Given the description of an element on the screen output the (x, y) to click on. 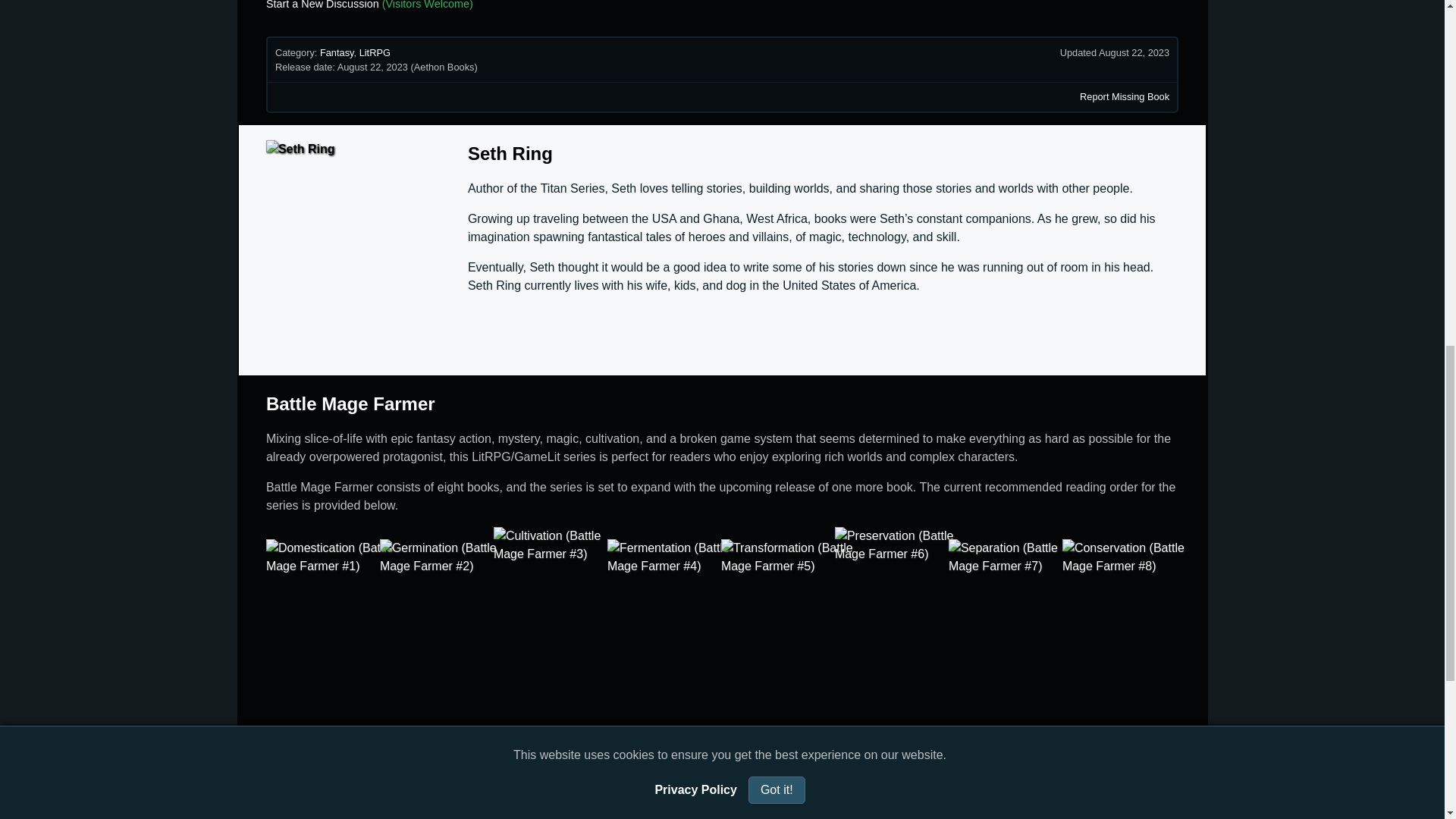
Battle Mage Farmer (350, 403)
Fantasy (336, 52)
LitRPG (374, 52)
Seth Ring (510, 153)
